Given the description of an element on the screen output the (x, y) to click on. 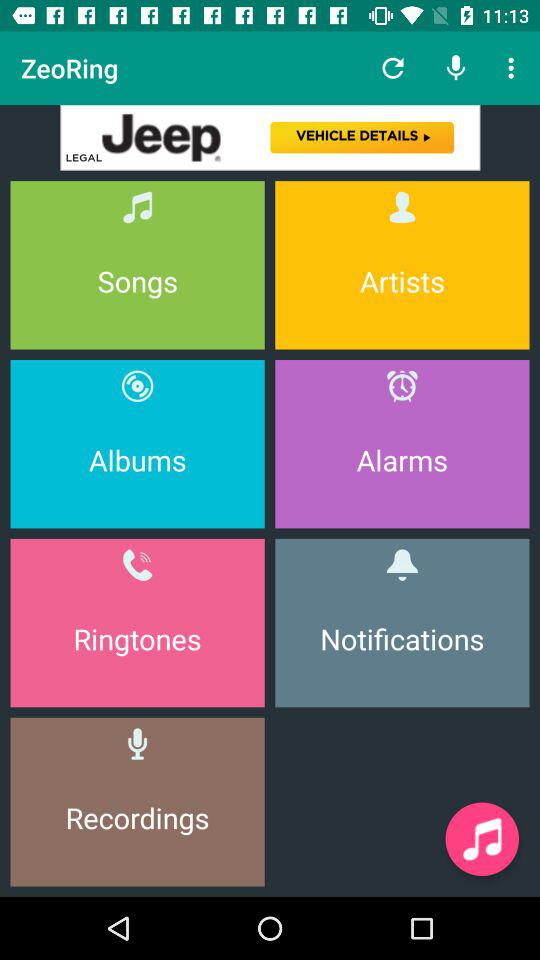
tap to view advertisement (270, 137)
